Given the description of an element on the screen output the (x, y) to click on. 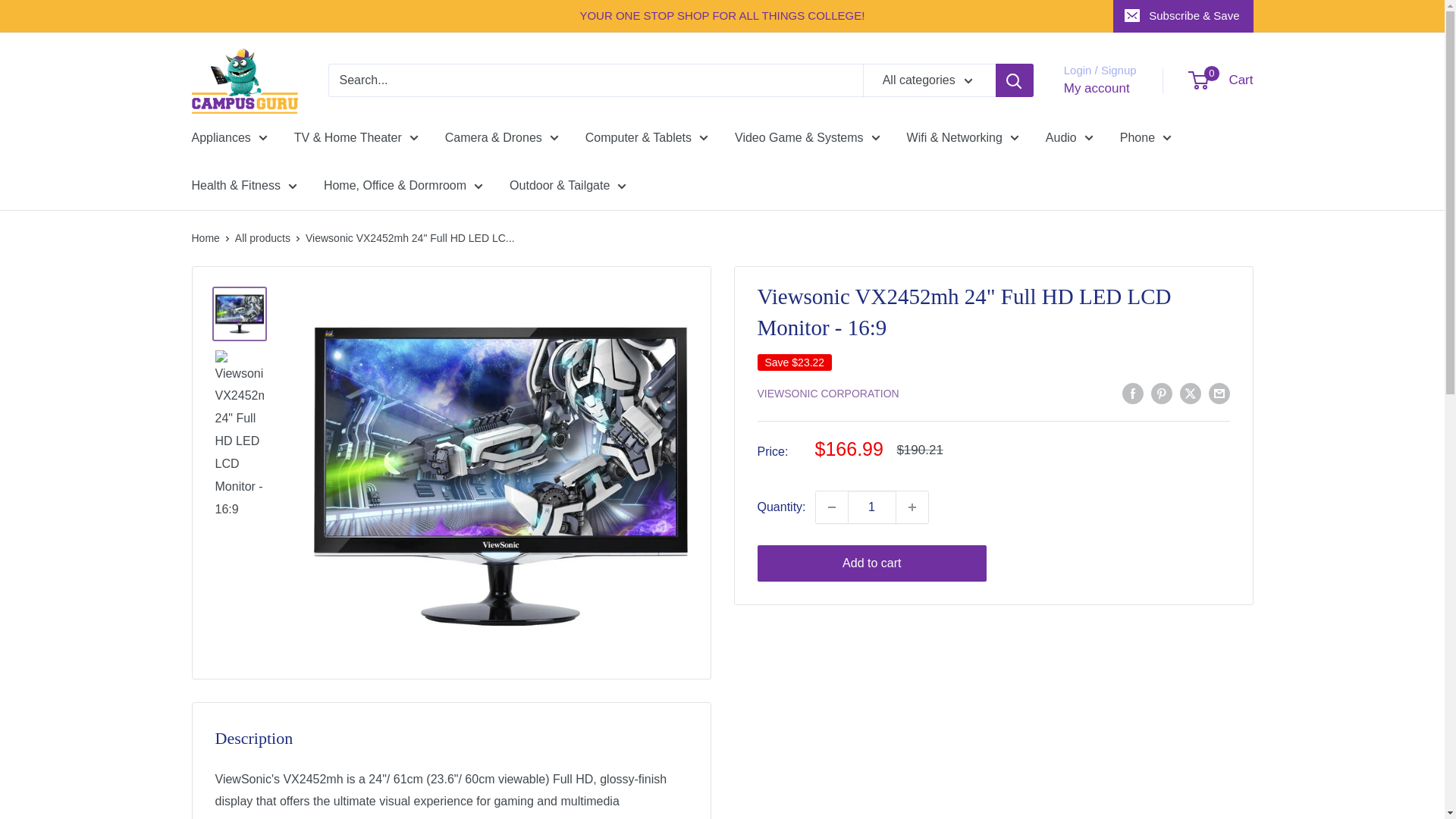
Increase quantity by 1 (912, 507)
Decrease quantity by 1 (831, 507)
1 (871, 507)
